Given the description of an element on the screen output the (x, y) to click on. 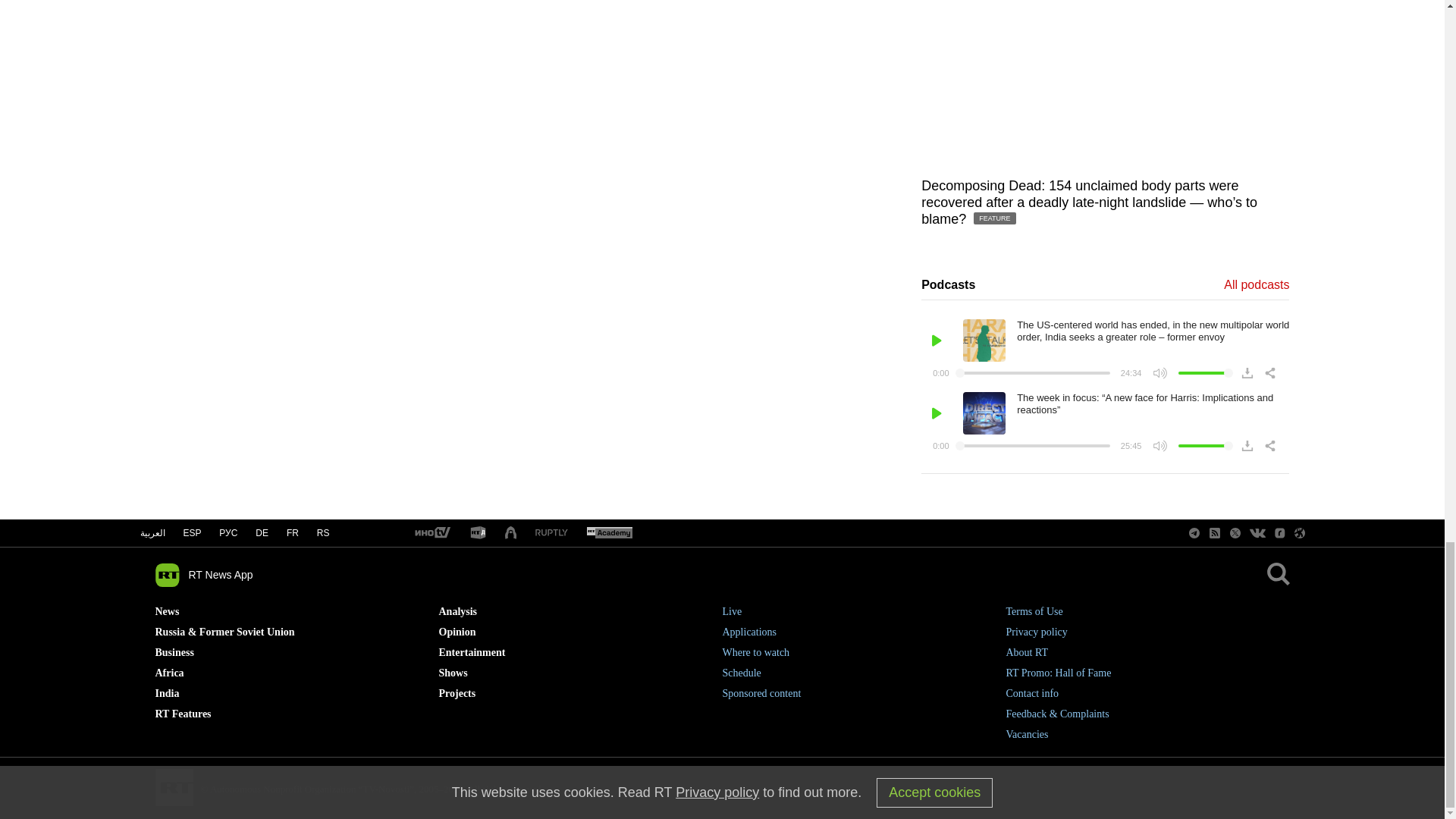
RT  (478, 533)
RT  (431, 533)
RT  (608, 533)
RT  (551, 533)
